Given the description of an element on the screen output the (x, y) to click on. 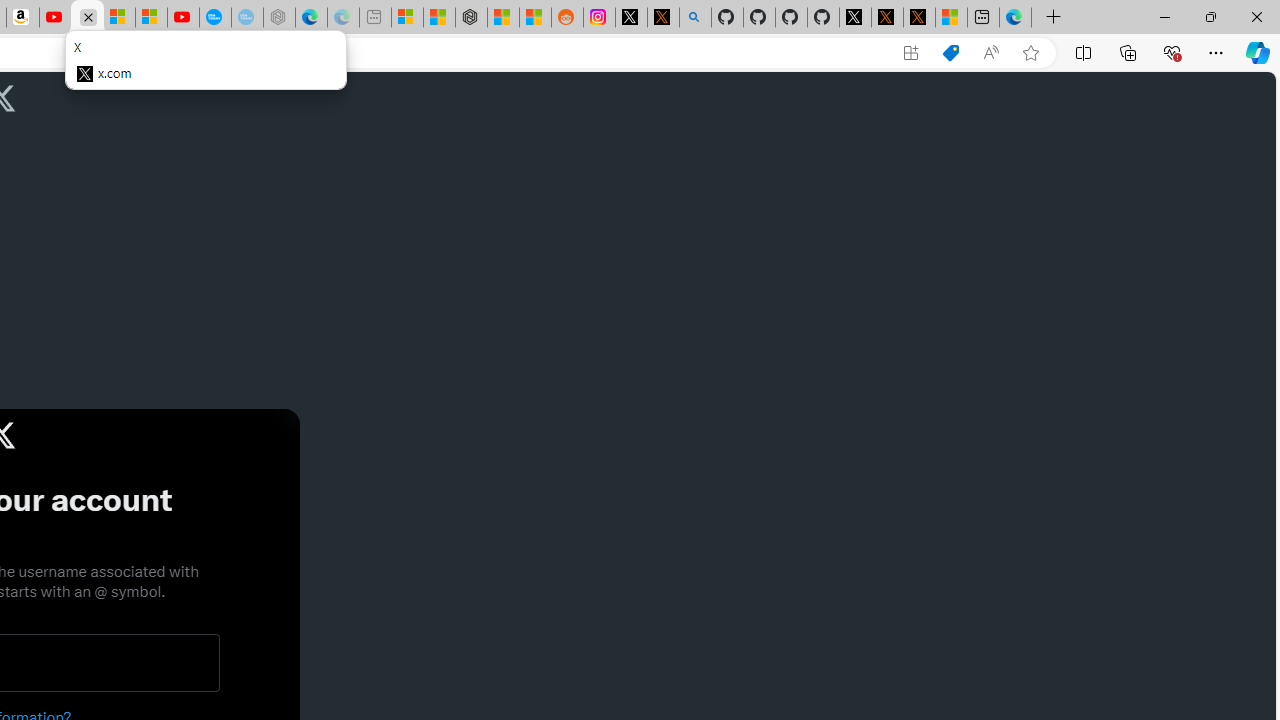
Nordace - Duffels (471, 17)
Nordace - Nordace has arrived Hong Kong - Sleeping (279, 17)
The most popular Google 'how to' searches - Sleeping (246, 17)
X Privacy Policy (919, 17)
help.x.com | 524: A timeout occurred (663, 17)
